Given the description of an element on the screen output the (x, y) to click on. 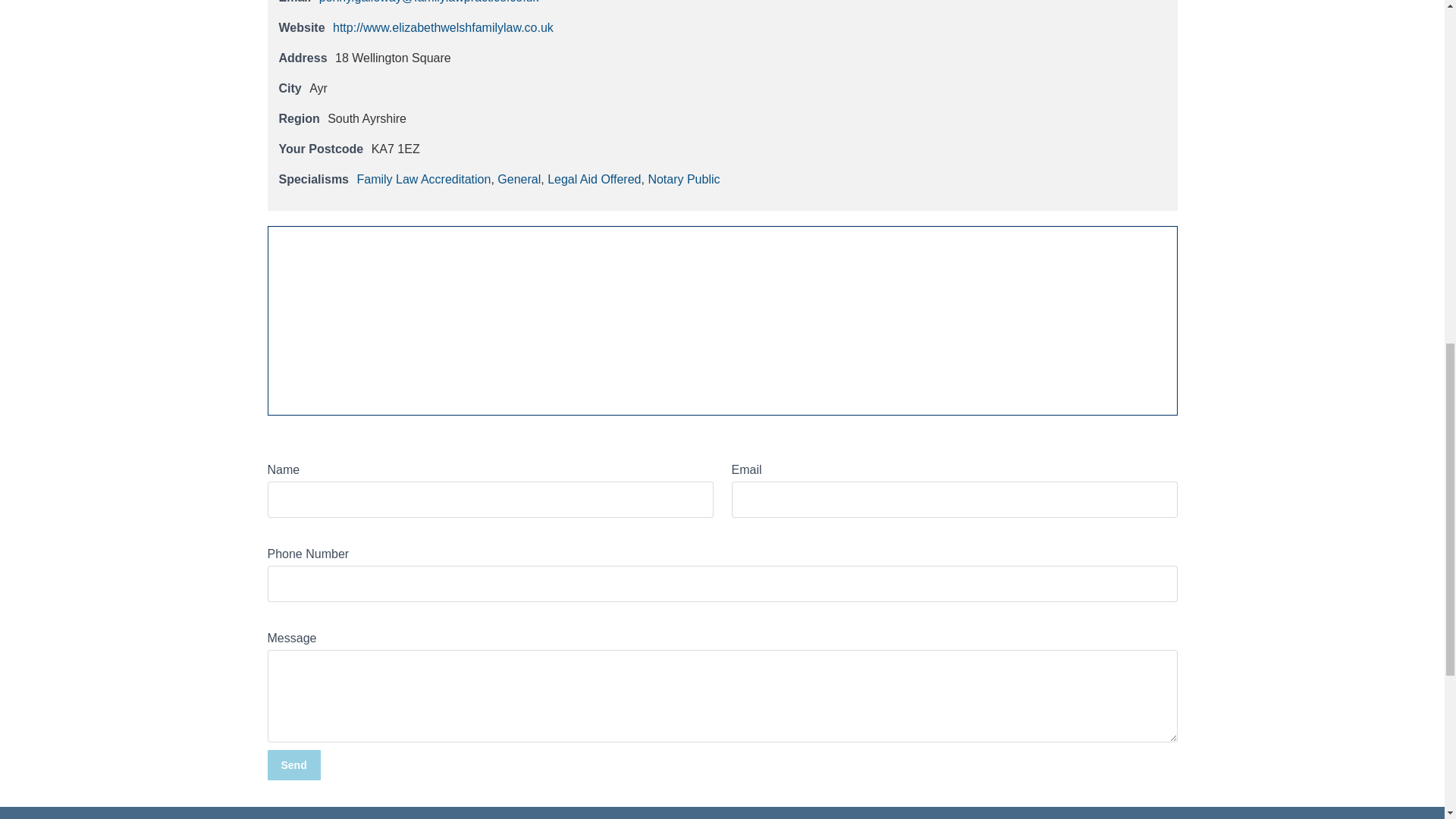
General (518, 178)
Send (293, 765)
Legal Aid Offered (593, 178)
Family Law Accreditation (423, 178)
Notary Public (683, 178)
Send (293, 765)
